Given the description of an element on the screen output the (x, y) to click on. 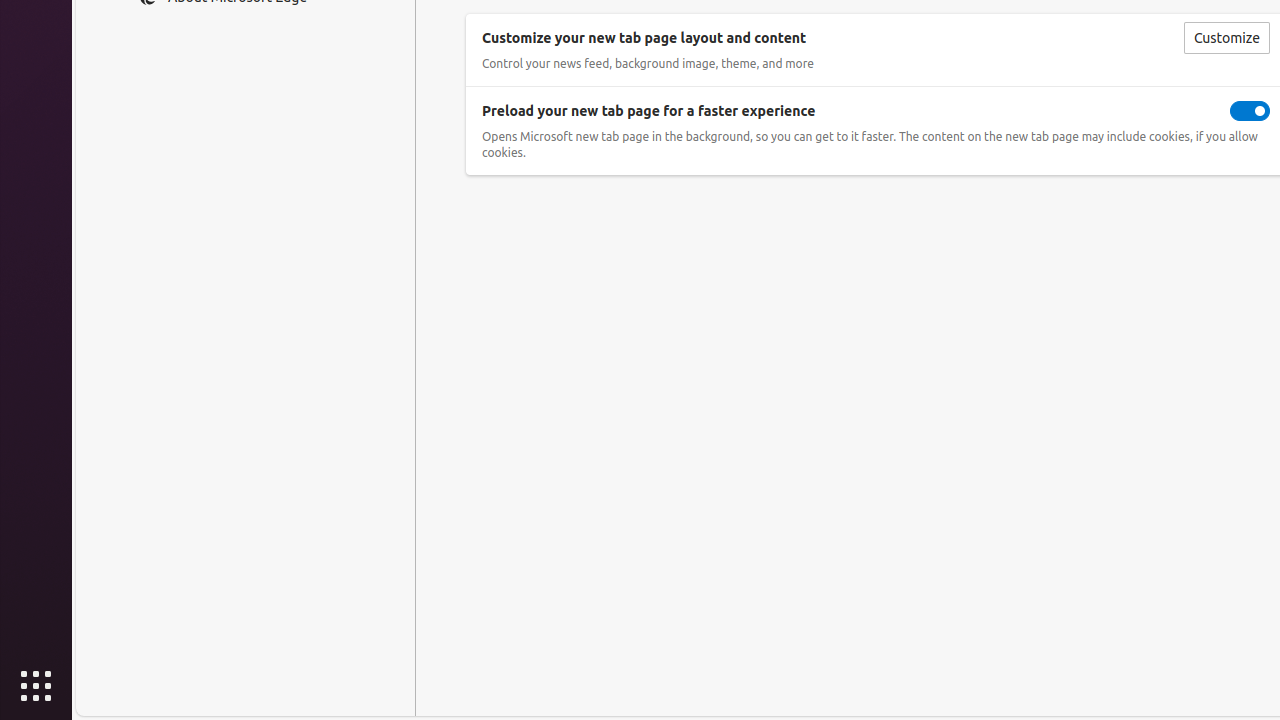
Customize your new tab page layout and content Element type: push-button (1226, 38)
Preload your new tab page for a faster experience Element type: check-box (1250, 111)
Show Applications Element type: toggle-button (36, 686)
